Given the description of an element on the screen output the (x, y) to click on. 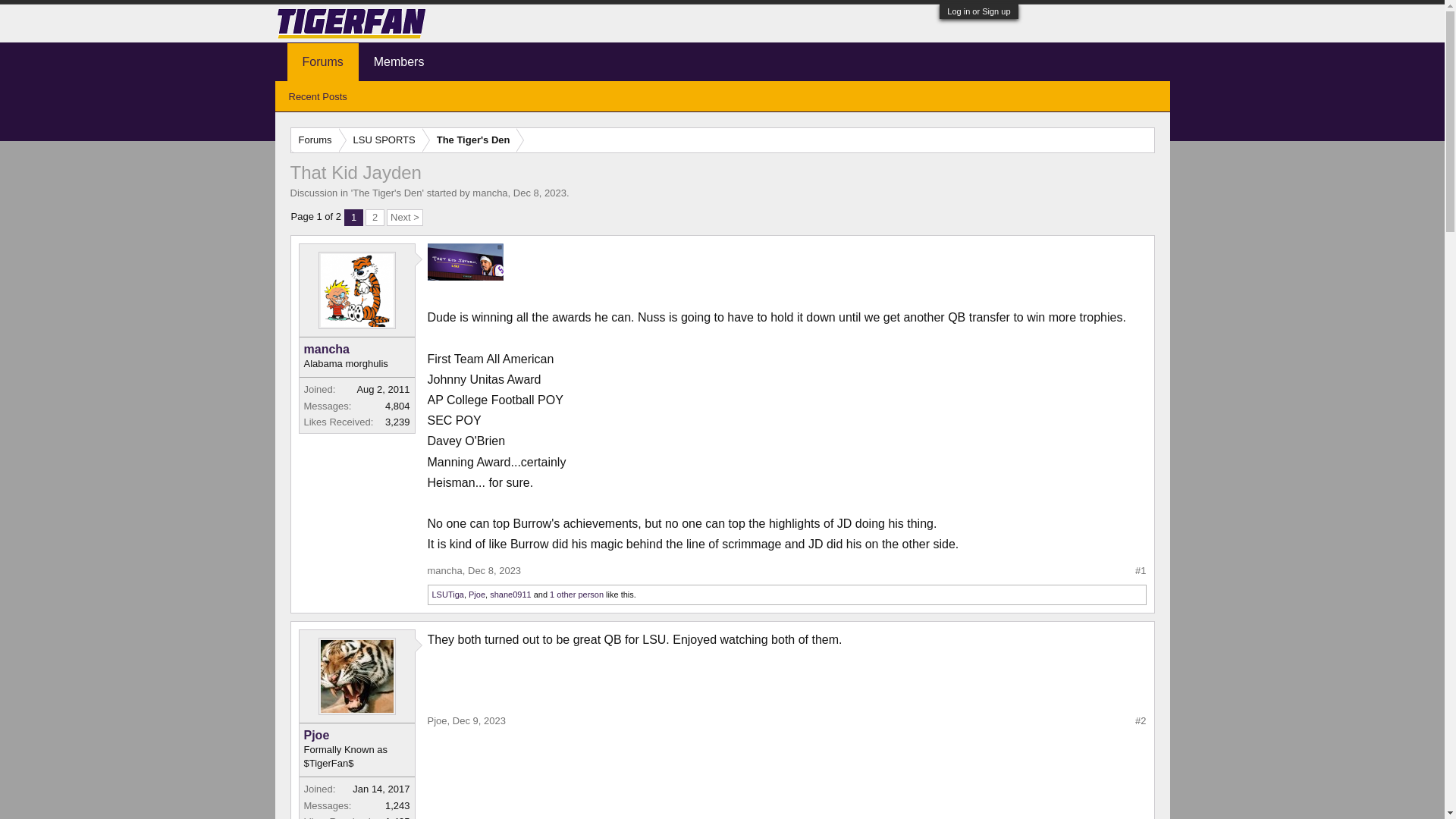
Dec 8, 2023 (494, 570)
mancha (445, 570)
mancha (355, 349)
LSUTiga (448, 593)
LSU SPORTS (381, 140)
Open quick navigation (1141, 139)
Pjoe (355, 735)
Log in or Sign up (978, 10)
1,243 (397, 805)
1 other person (577, 593)
